Given the description of an element on the screen output the (x, y) to click on. 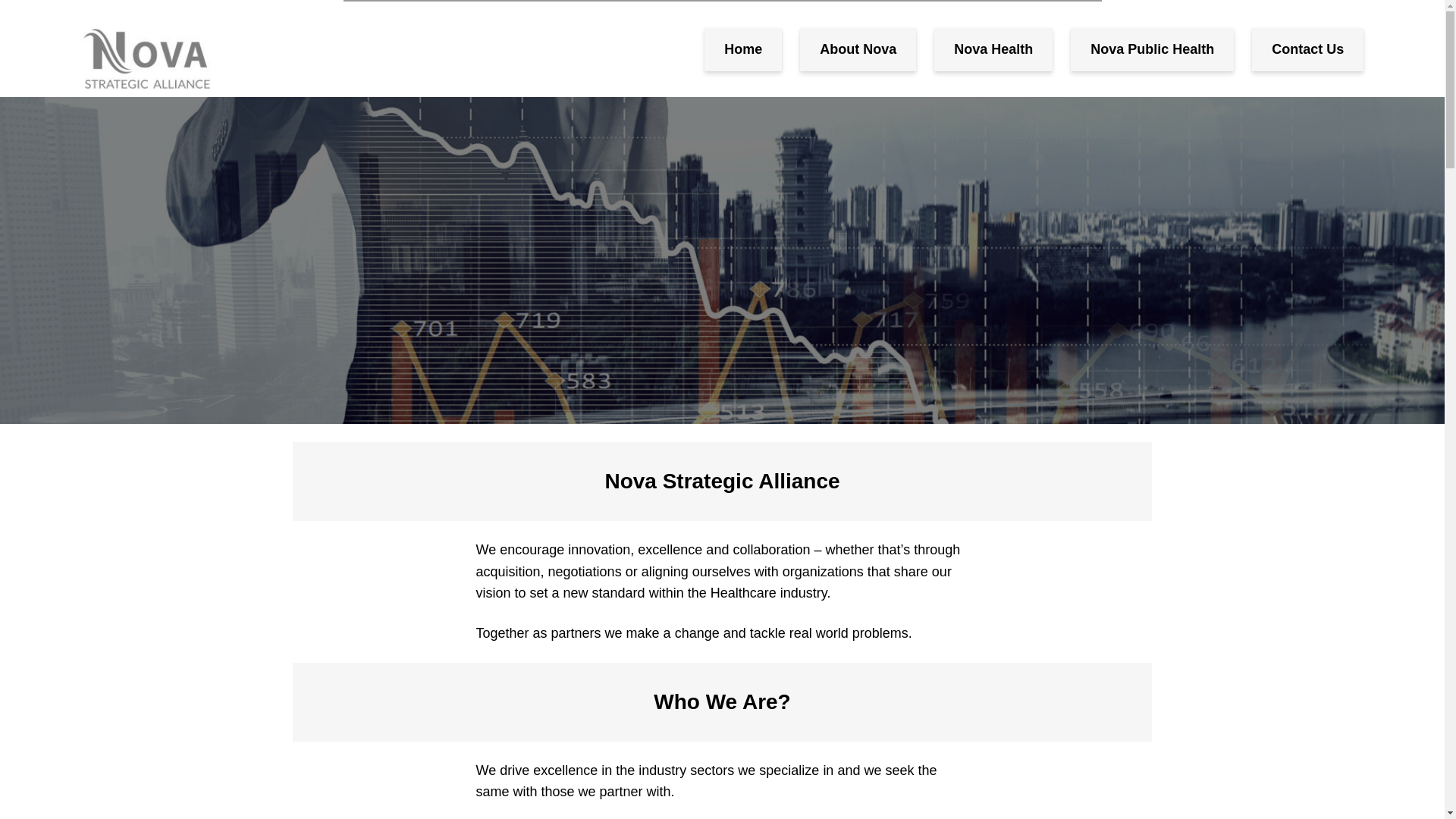
About Nova (857, 49)
Home (742, 49)
Nova Health (993, 49)
Contact Us (1307, 49)
Nova Public Health (1151, 49)
